Given the description of an element on the screen output the (x, y) to click on. 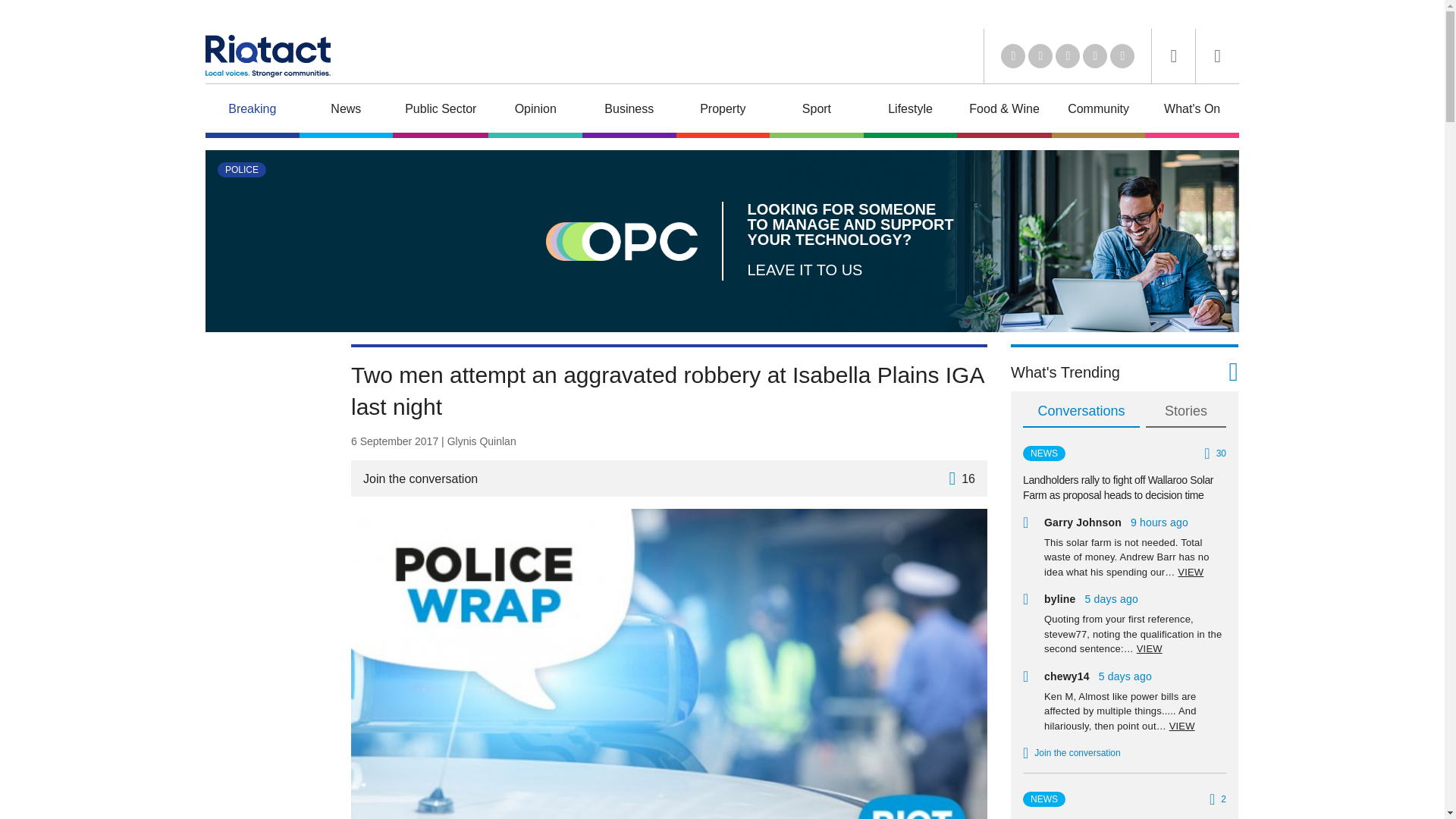
Twitter (1039, 55)
LinkedIn (1013, 55)
News (346, 111)
Youtube (1067, 55)
Breaking (252, 111)
Facebook (1094, 55)
Riotact Home (267, 55)
Instagram (1121, 55)
